Given the description of an element on the screen output the (x, y) to click on. 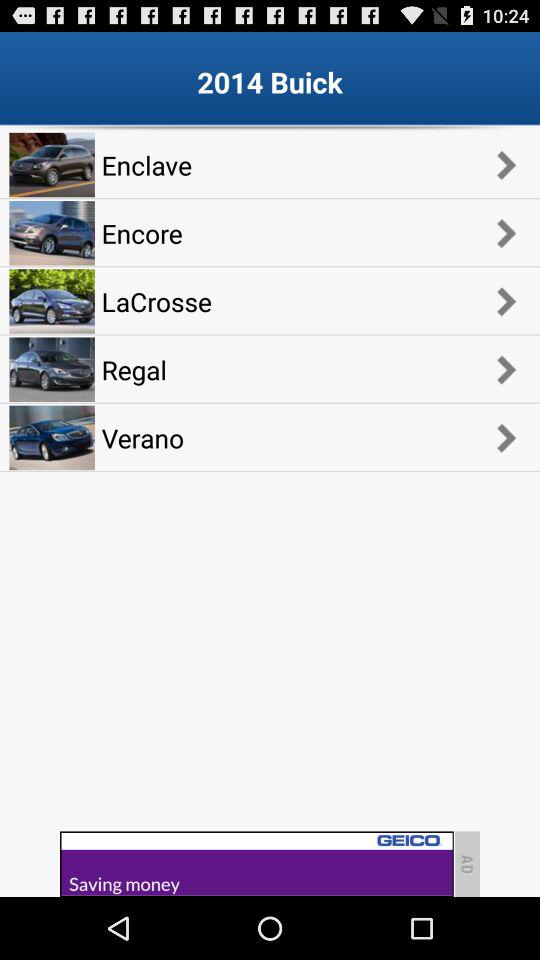
go to advertisement (256, 864)
